Given the description of an element on the screen output the (x, y) to click on. 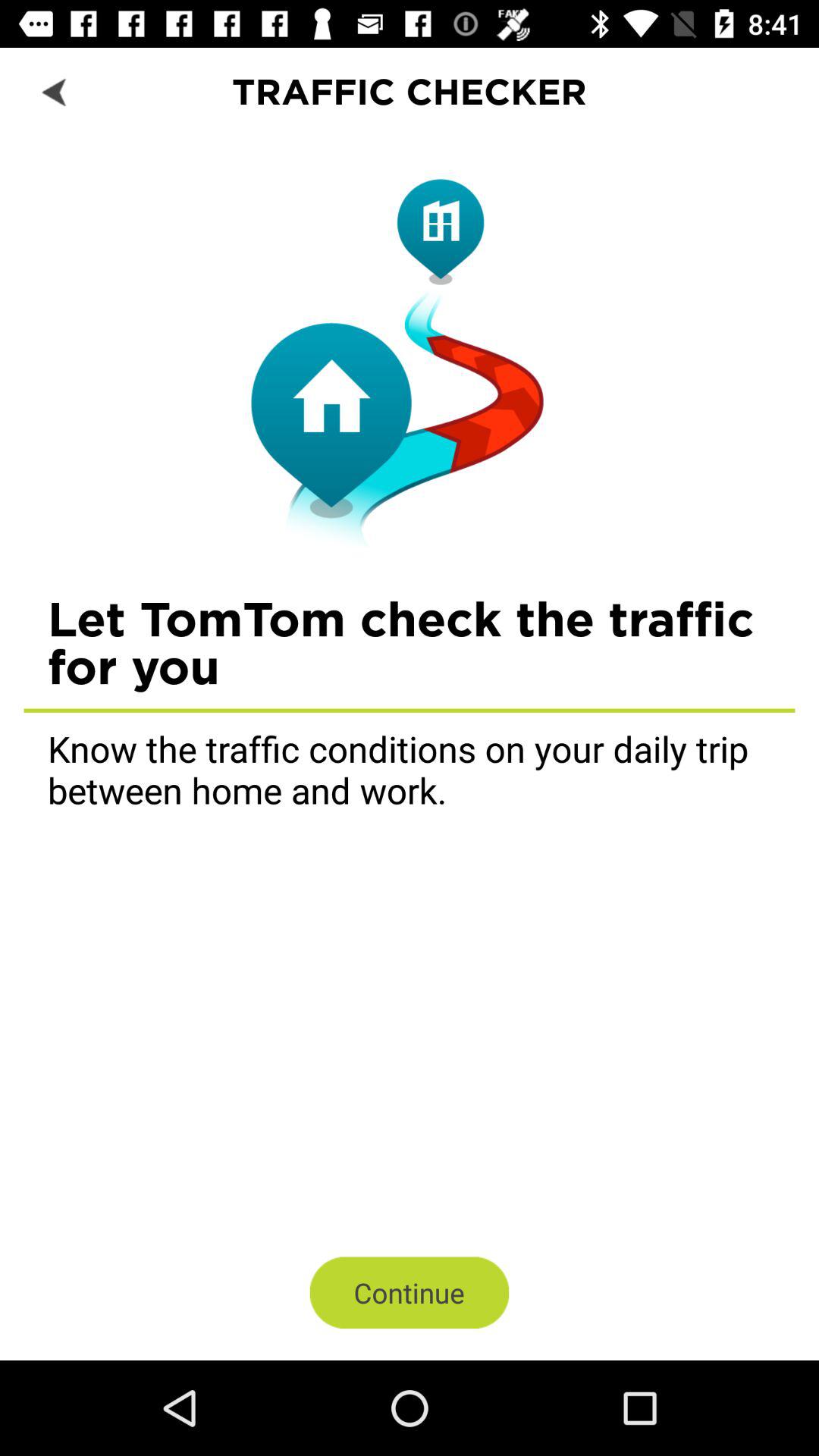
choose icon next to the traffic checker item (55, 91)
